Given the description of an element on the screen output the (x, y) to click on. 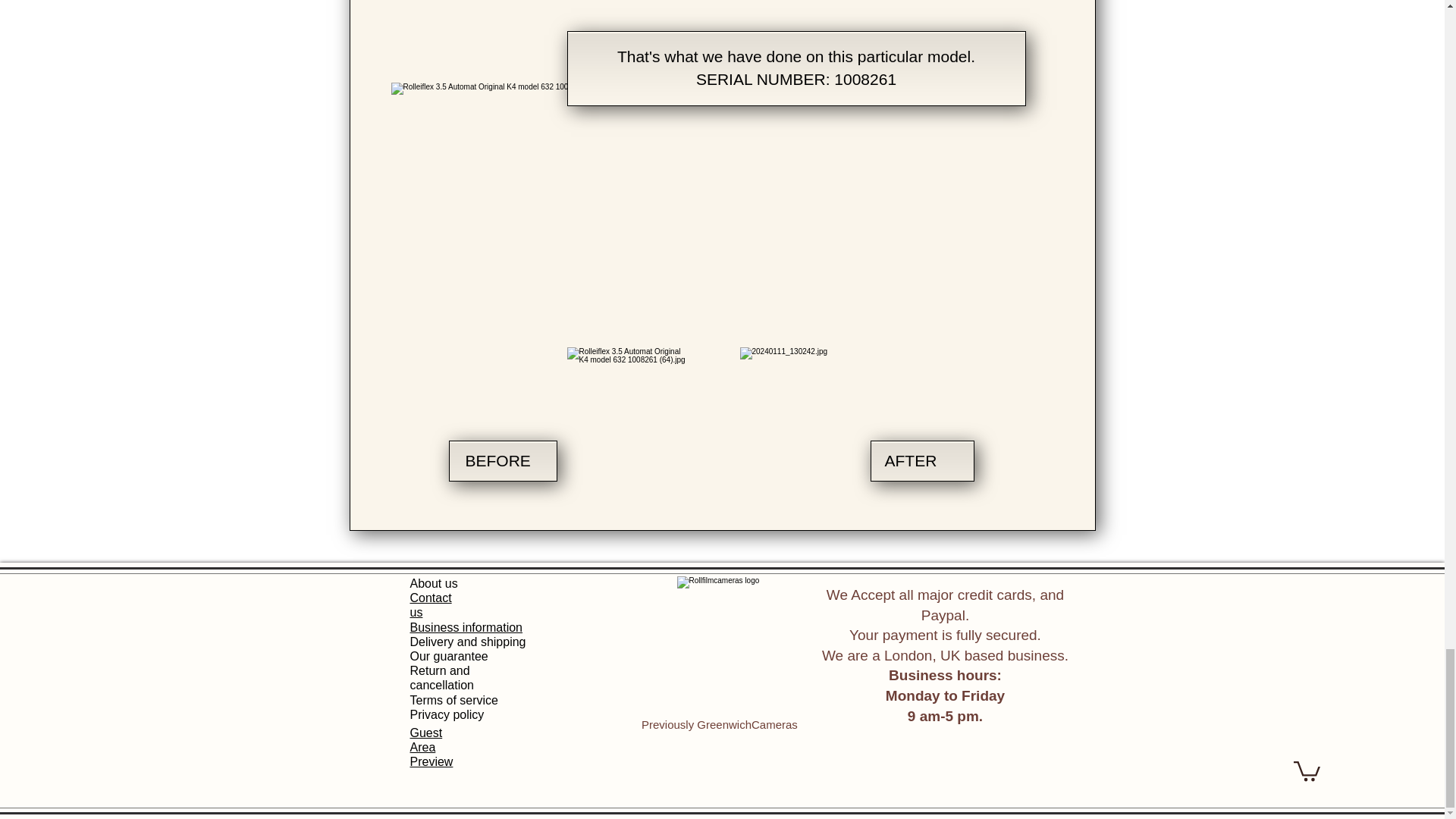
Terms of service (453, 699)
Return and cancellation (441, 677)
About us (433, 583)
Our guarantee (448, 656)
Business information (465, 626)
Contact us (430, 605)
Delivery and shipping (467, 641)
